Given the description of an element on the screen output the (x, y) to click on. 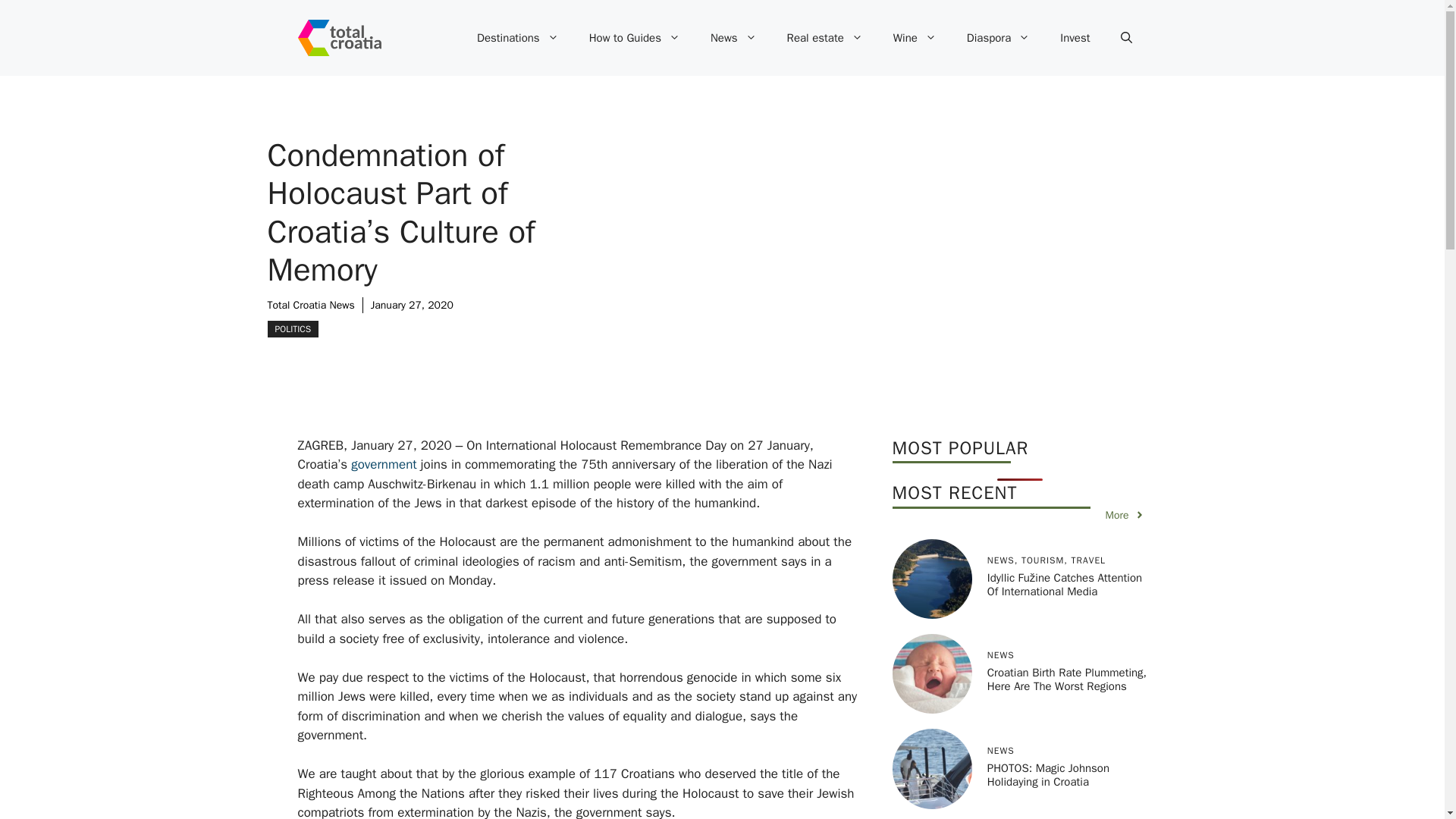
Wine (914, 37)
Invest (1075, 37)
How to Guides (634, 37)
News (733, 37)
Diaspora (998, 37)
Destinations (517, 37)
Real estate (824, 37)
